Given the description of an element on the screen output the (x, y) to click on. 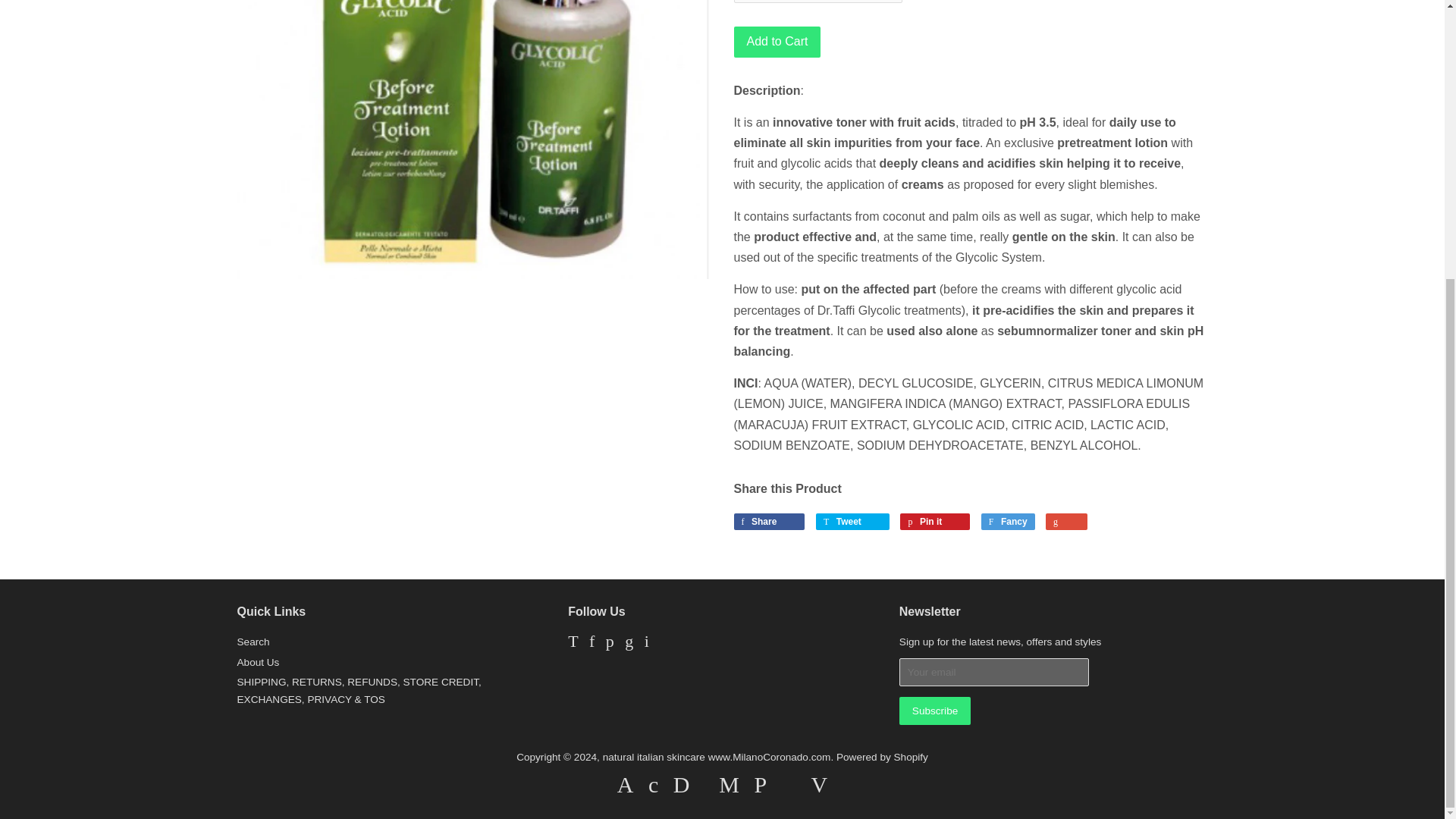
1 (817, 1)
Subscribe (935, 710)
